Given the description of an element on the screen output the (x, y) to click on. 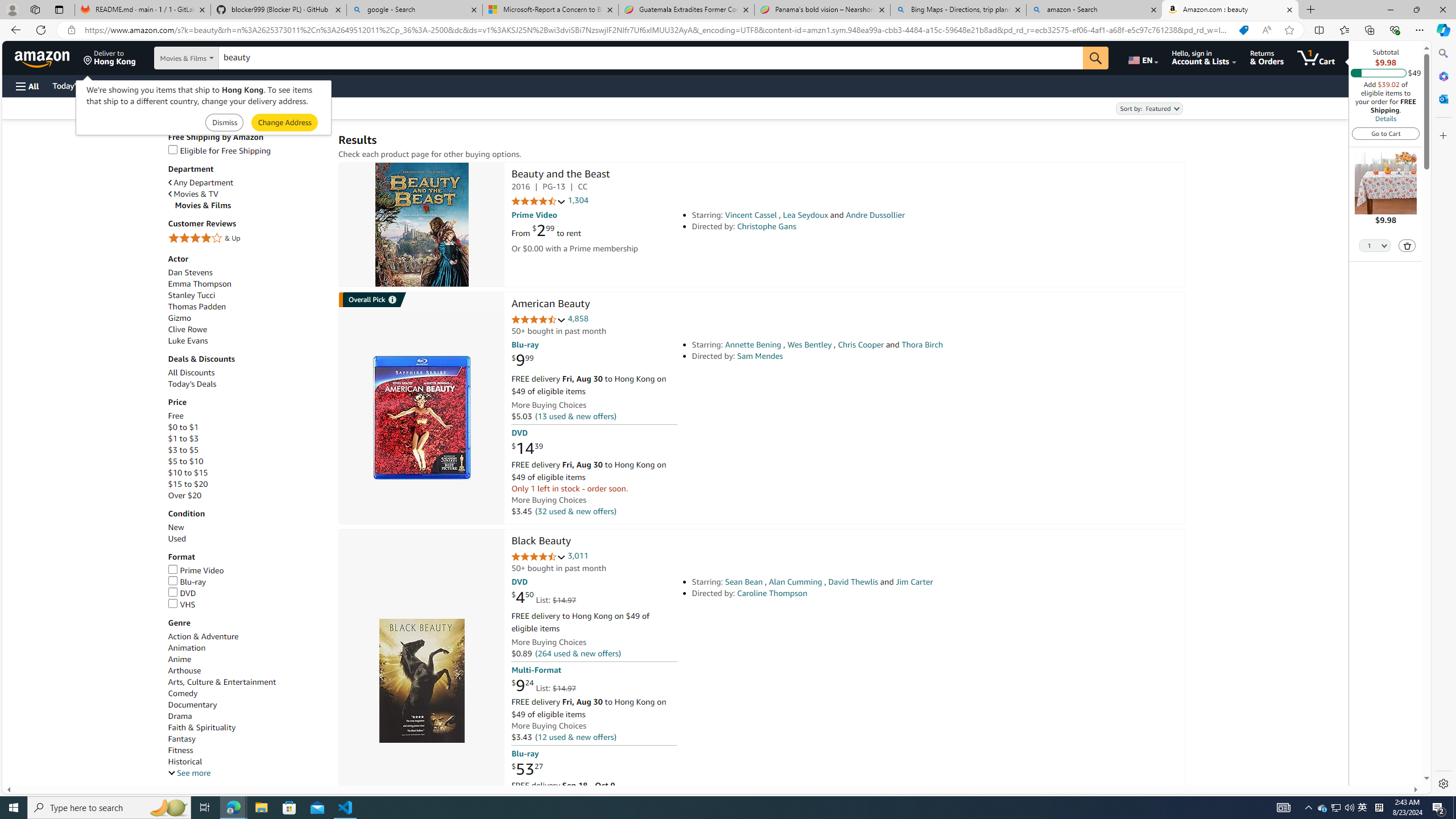
Action & Adventure (247, 636)
Historical (247, 761)
Skip to main search results (50, 780)
Wes Bentley (809, 344)
Emma Thompson (199, 283)
Registry (205, 85)
Beauty and the Beast (560, 174)
Amazon.com : beauty (1230, 9)
$15 to $20 (247, 483)
4.6 out of 5 stars (538, 319)
Andre Dussollier (874, 214)
